Given the description of an element on the screen output the (x, y) to click on. 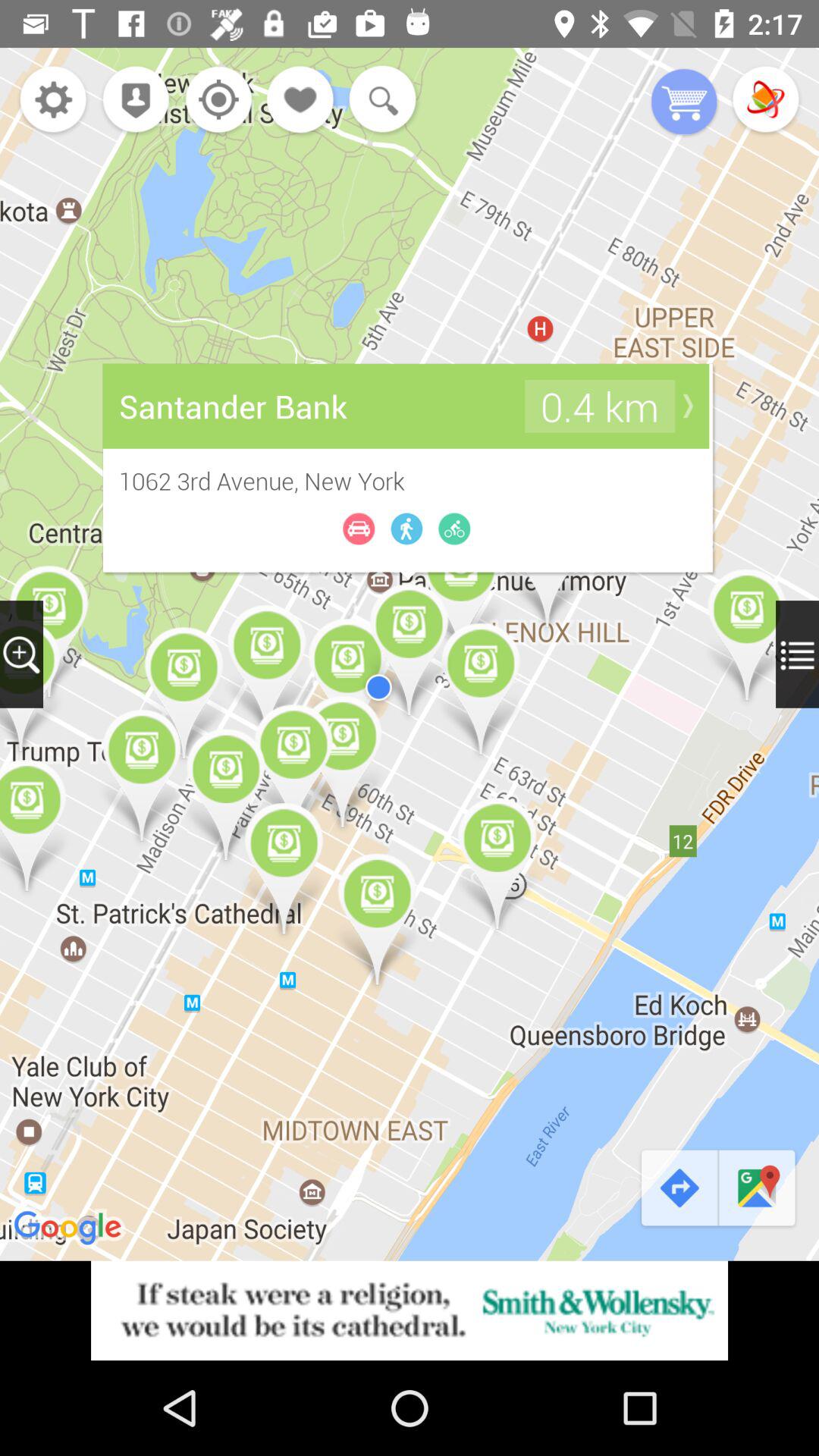
open settings (52, 100)
